Given the description of an element on the screen output the (x, y) to click on. 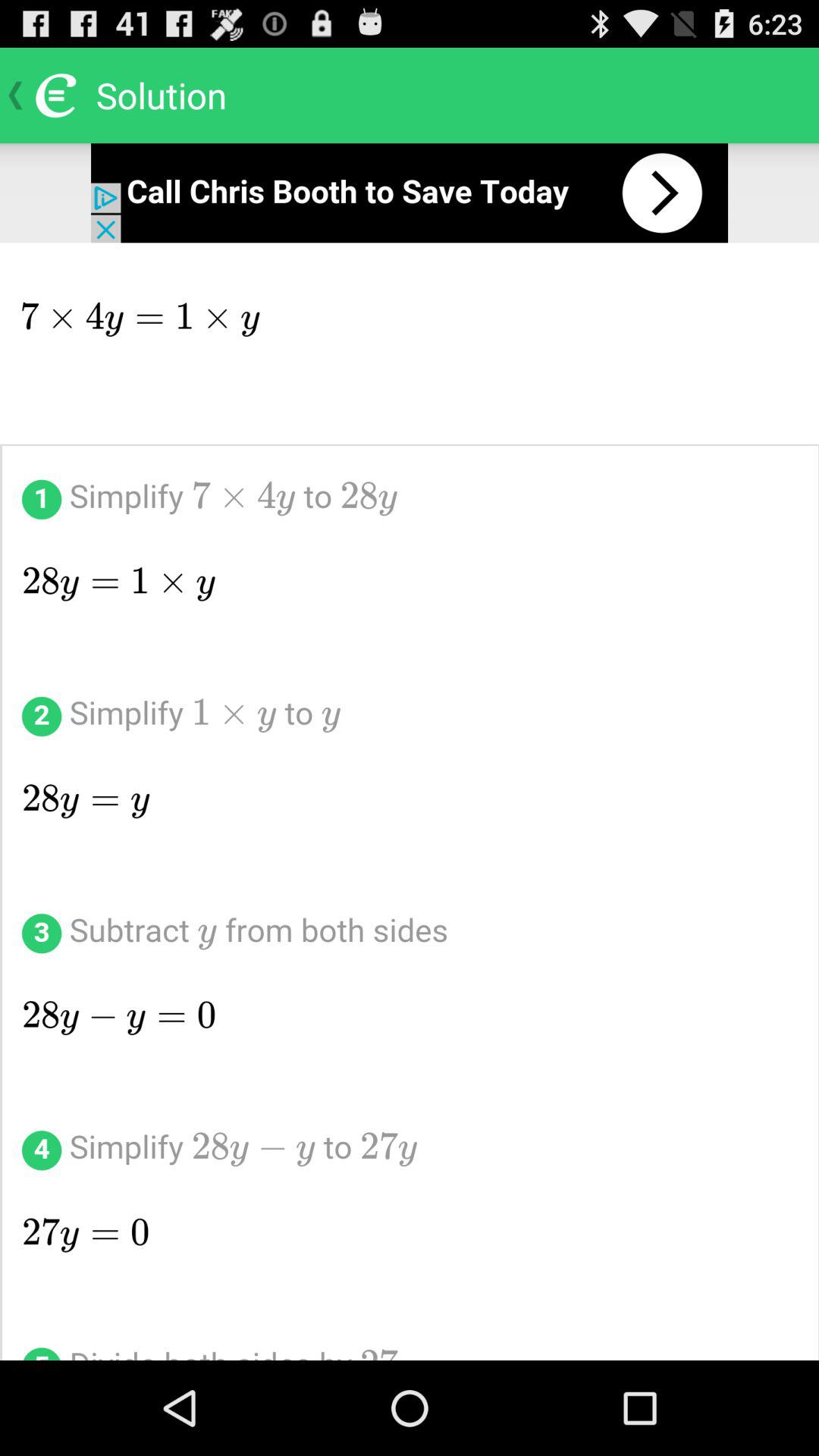
previou page (409, 192)
